Given the description of an element on the screen output the (x, y) to click on. 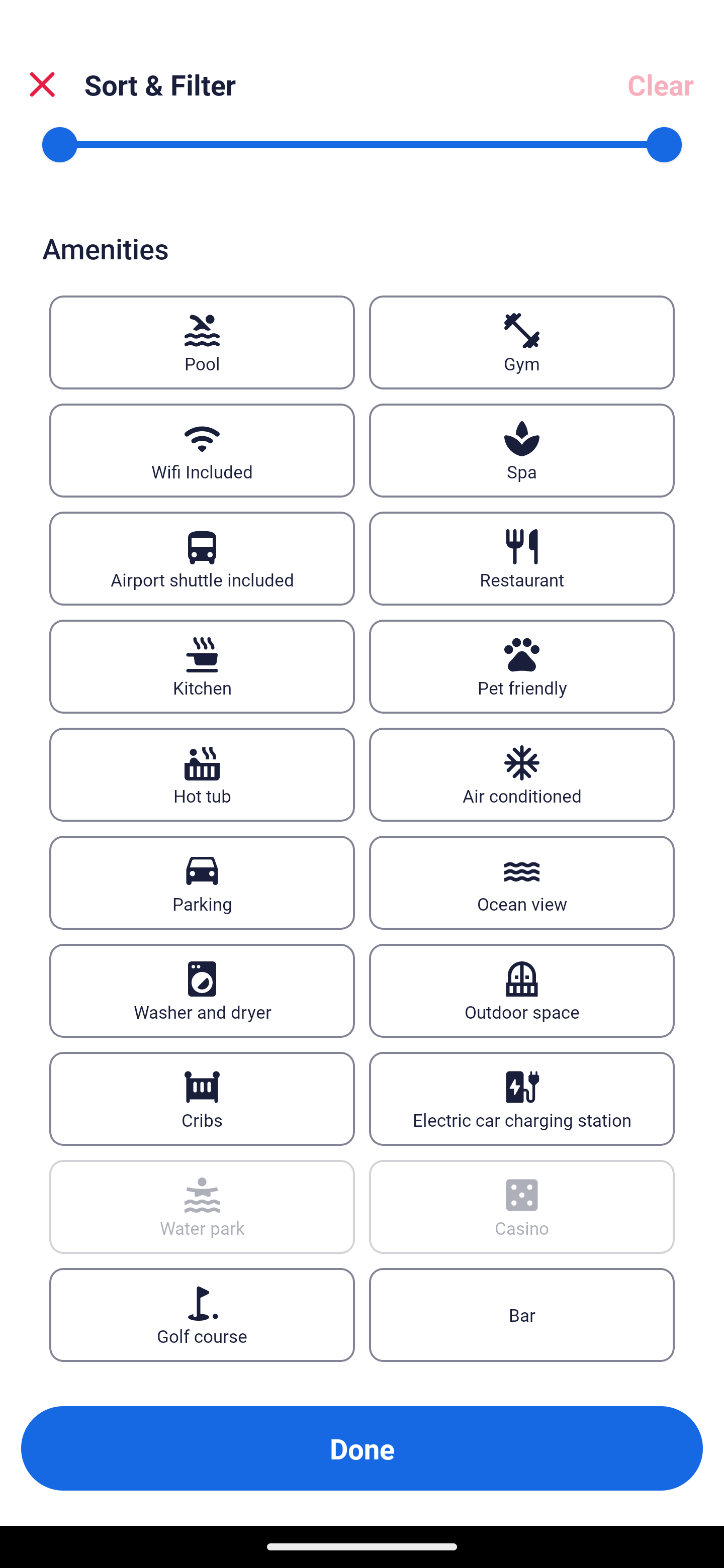
Close Sort and Filter (42, 84)
Clear (660, 84)
Pool (201, 341)
Gym (521, 341)
Wifi Included (201, 449)
Spa (521, 449)
Airport shuttle included (201, 558)
Restaurant (521, 558)
Kitchen (201, 666)
Pet friendly (521, 666)
Hot tub (201, 774)
Air conditioned (521, 774)
Parking (201, 882)
Ocean view (521, 882)
Washer and dryer (201, 990)
Outdoor space (521, 990)
Cribs (201, 1099)
Electric car charging station (521, 1099)
Water park (201, 1207)
Casino (521, 1207)
Golf course (201, 1315)
Bar (521, 1315)
Apply and close Sort and Filter Done (361, 1448)
